Given the description of an element on the screen output the (x, y) to click on. 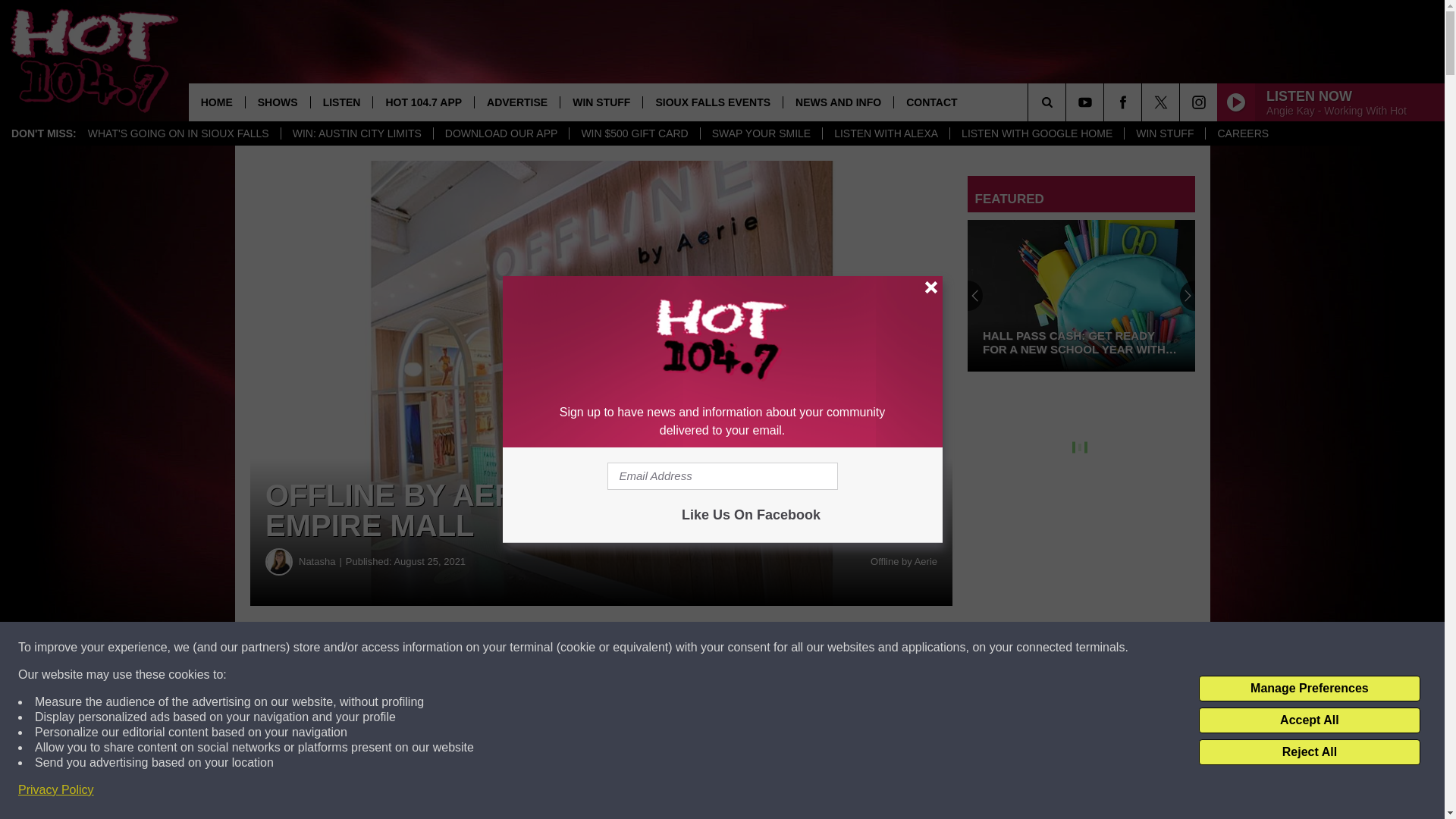
DOWNLOAD OUR APP (500, 133)
HOT 104.7 APP (423, 102)
Privacy Policy (55, 789)
LISTEN (341, 102)
SEARCH (1068, 102)
WIN STUFF (600, 102)
LISTEN WITH GOOGLE HOME (1036, 133)
HOME (216, 102)
Email Address (722, 475)
CAREERS (1242, 133)
WIN: AUSTIN CITY LIMITS (356, 133)
WIN STUFF (1164, 133)
SEARCH (1068, 102)
SHOWS (277, 102)
Accept All (1309, 720)
